Given the description of an element on the screen output the (x, y) to click on. 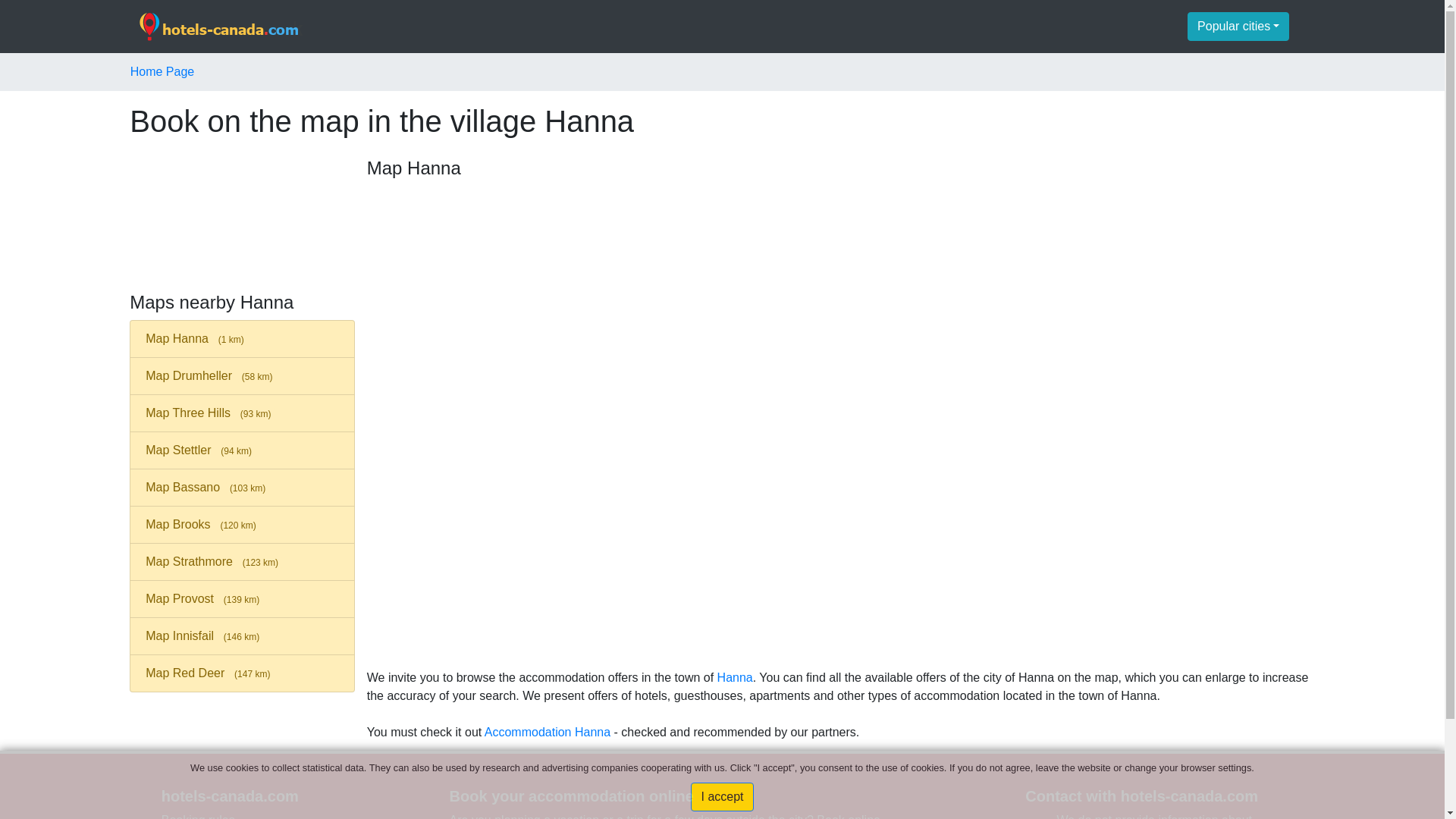
Home Page (163, 71)
Booking rules (197, 816)
Map Strathmore (242, 561)
Popular cities (1238, 26)
Nocleg Hanna (734, 676)
Map Three Hills (242, 412)
Map Hanna (242, 338)
Map Provost (242, 598)
Accommodation Hanna (547, 731)
Map Innisfail (242, 636)
Map Bassano (242, 487)
Nocleg Hanna (547, 731)
Map Red Deer (242, 673)
Map Drumheller (242, 375)
I accept (721, 796)
